Given the description of an element on the screen output the (x, y) to click on. 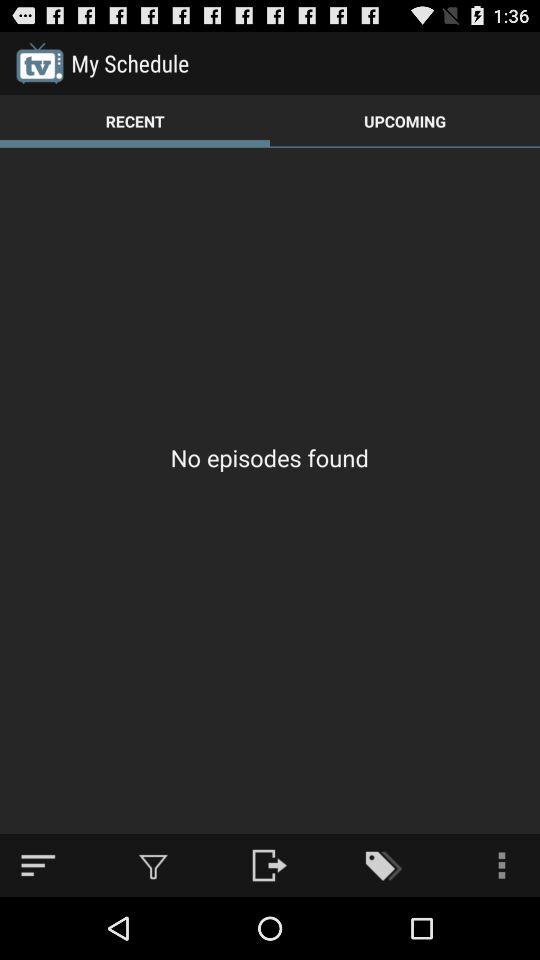
flip to the upcoming icon (405, 120)
